Given the description of an element on the screen output the (x, y) to click on. 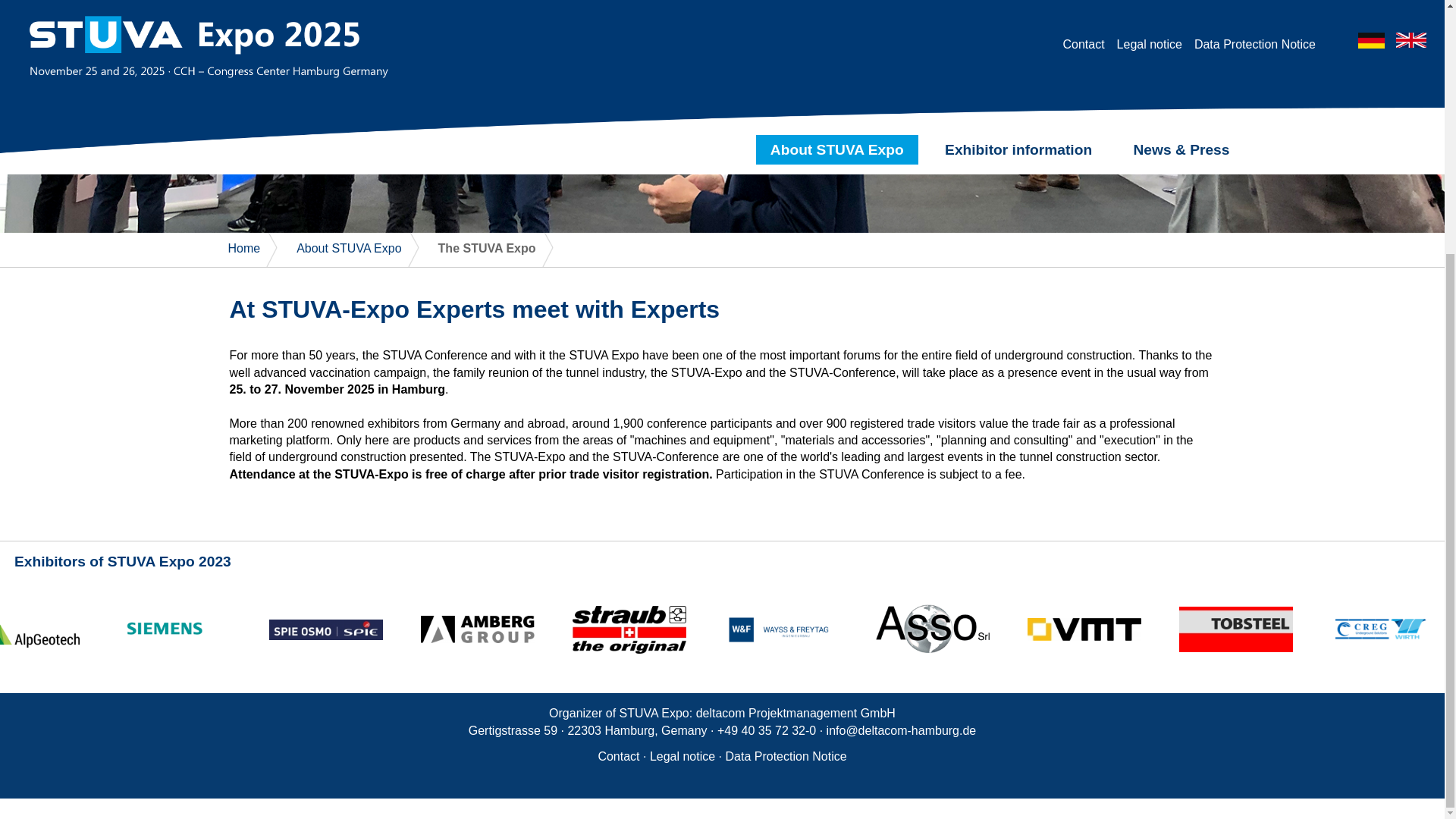
Legal notice (681, 756)
STUVA Expo 2019 (243, 247)
Contact (617, 756)
About STUVA Expo (349, 247)
Data Protection Notice (786, 756)
Home (243, 247)
About STUVA Expo (349, 247)
Contact (617, 756)
